Given the description of an element on the screen output the (x, y) to click on. 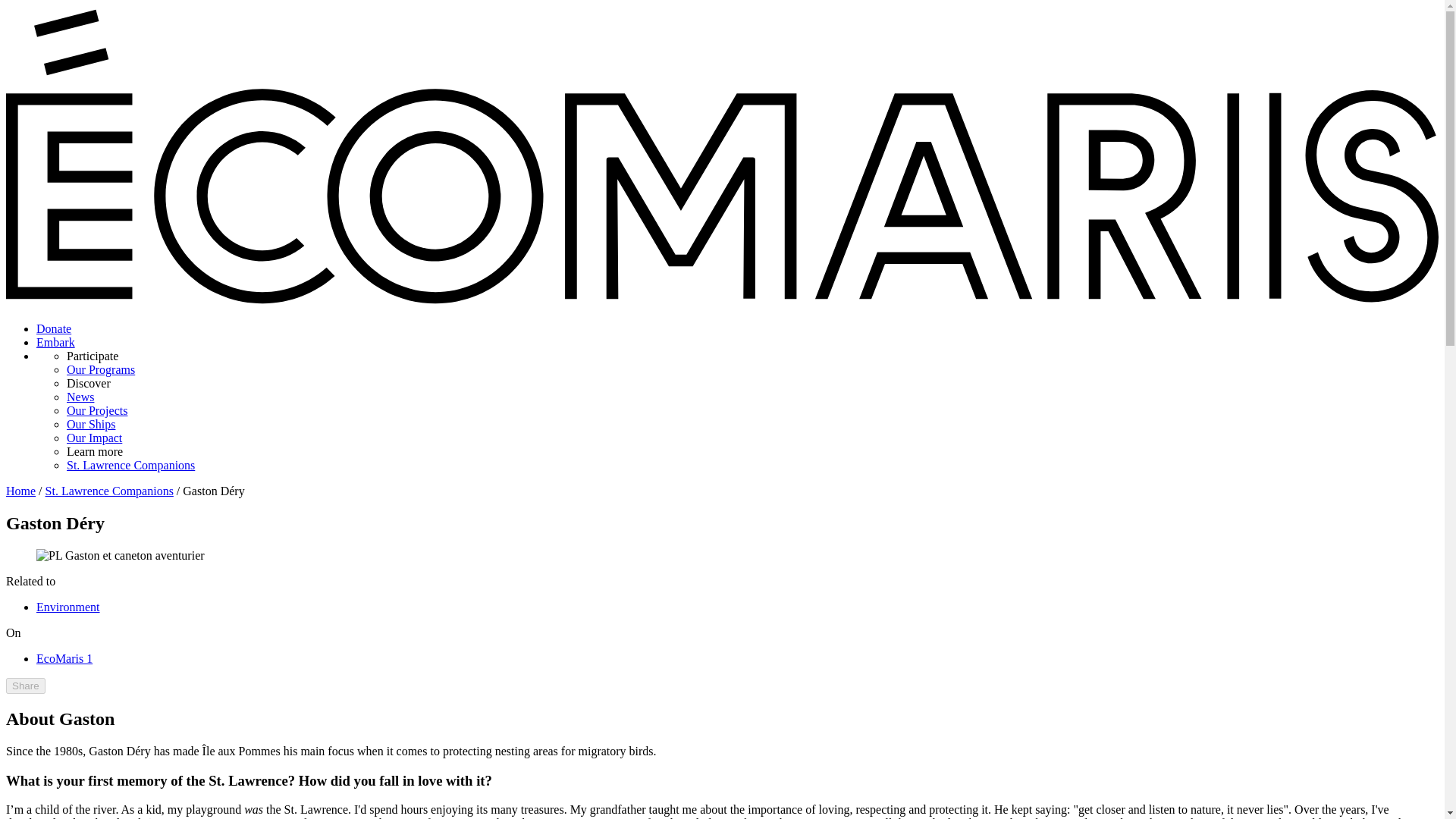
Our Projects (97, 410)
EcoMaris 1 (64, 658)
Home (19, 490)
News (80, 396)
Share (25, 685)
St. Lawrence Companions (109, 490)
Our Programs (100, 369)
St. Lawrence Companions (130, 464)
Donate (53, 328)
Embark (55, 341)
Our Ships (90, 423)
Environment (68, 606)
Our Impact (94, 437)
